Given the description of an element on the screen output the (x, y) to click on. 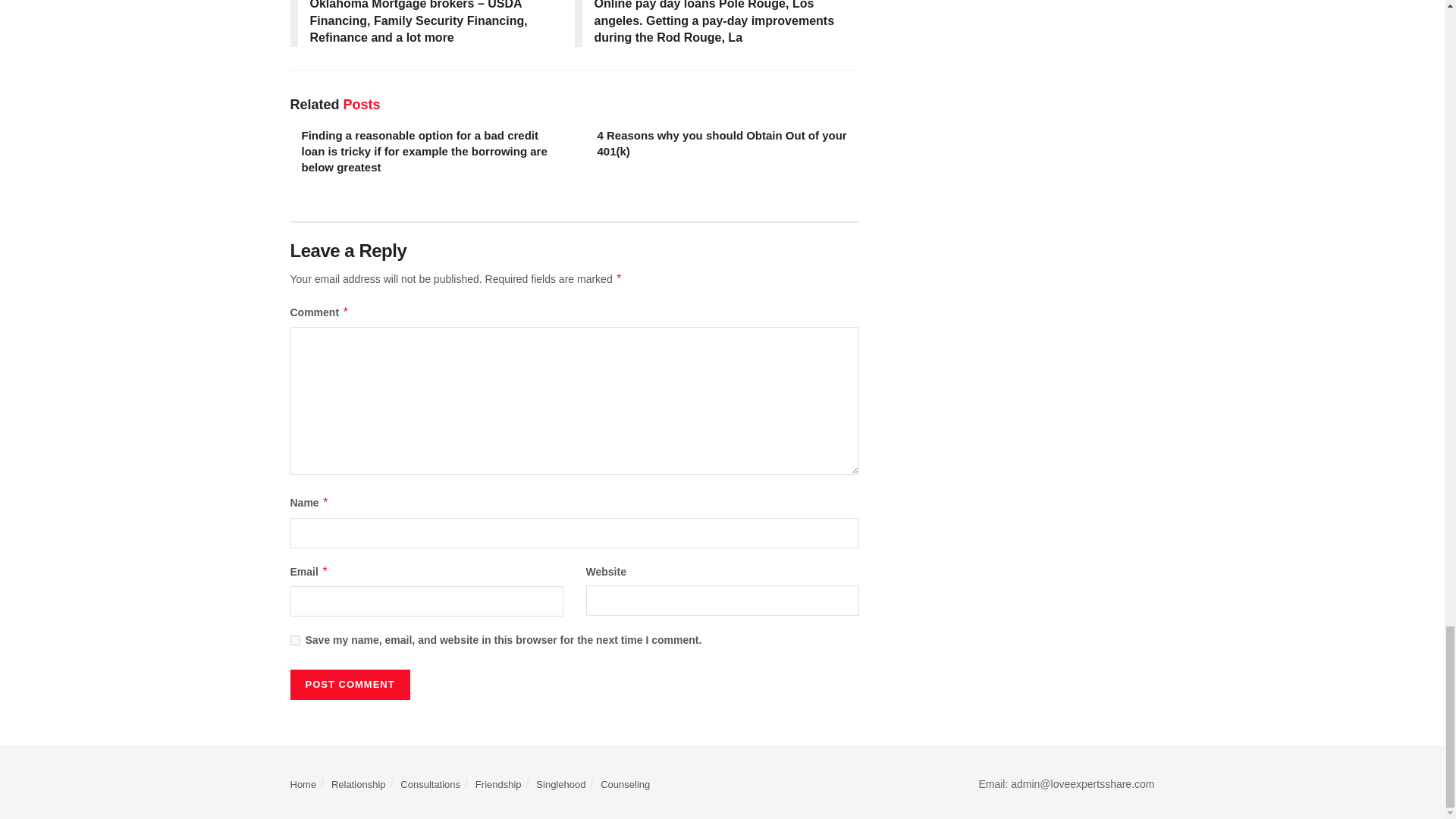
yes (294, 640)
Post Comment (349, 684)
Post Comment (349, 684)
